Given the description of an element on the screen output the (x, y) to click on. 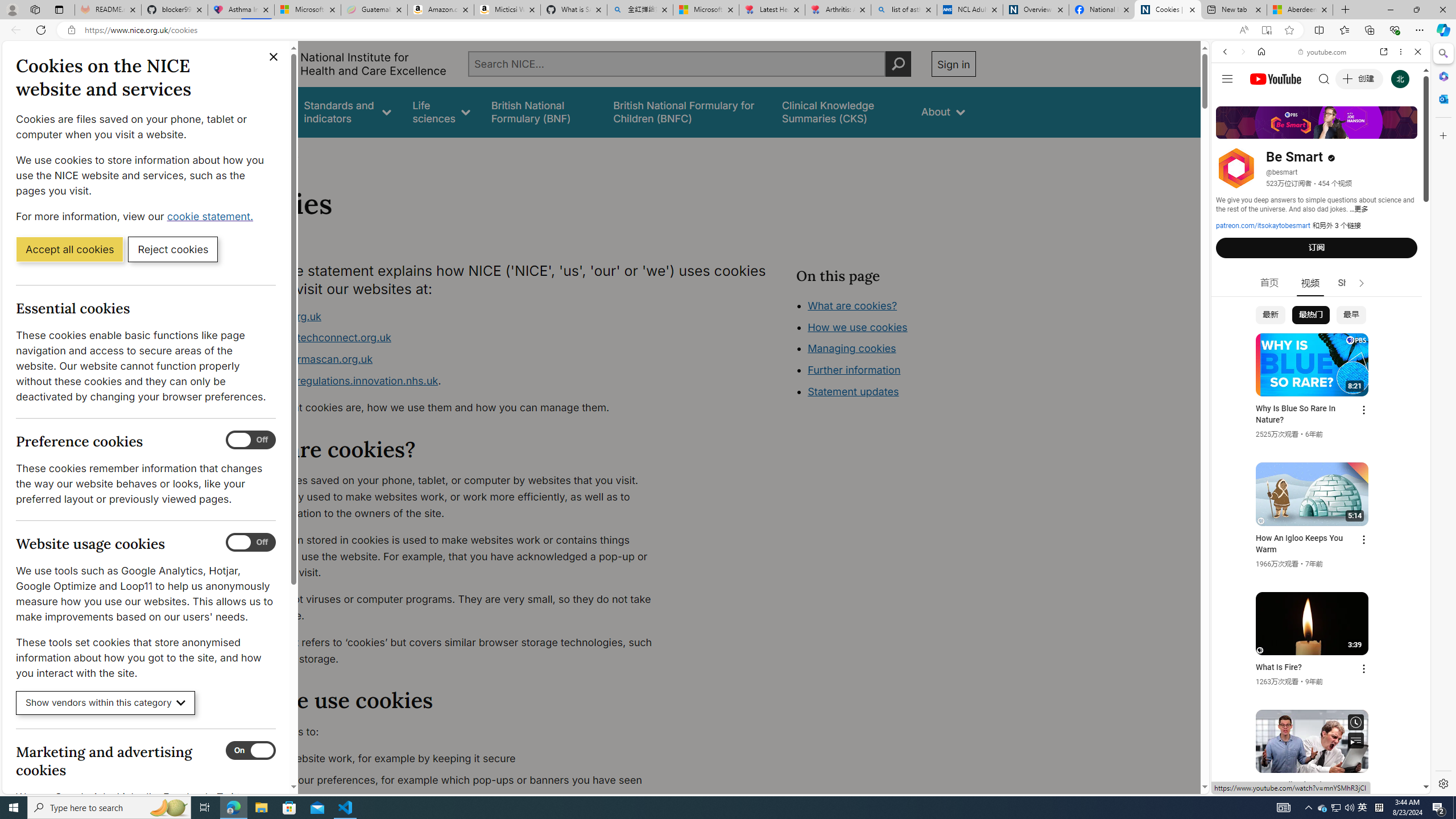
Statement updates (853, 391)
YouTube - YouTube (1315, 560)
Guidance (260, 111)
Home> (246, 152)
